Given the description of an element on the screen output the (x, y) to click on. 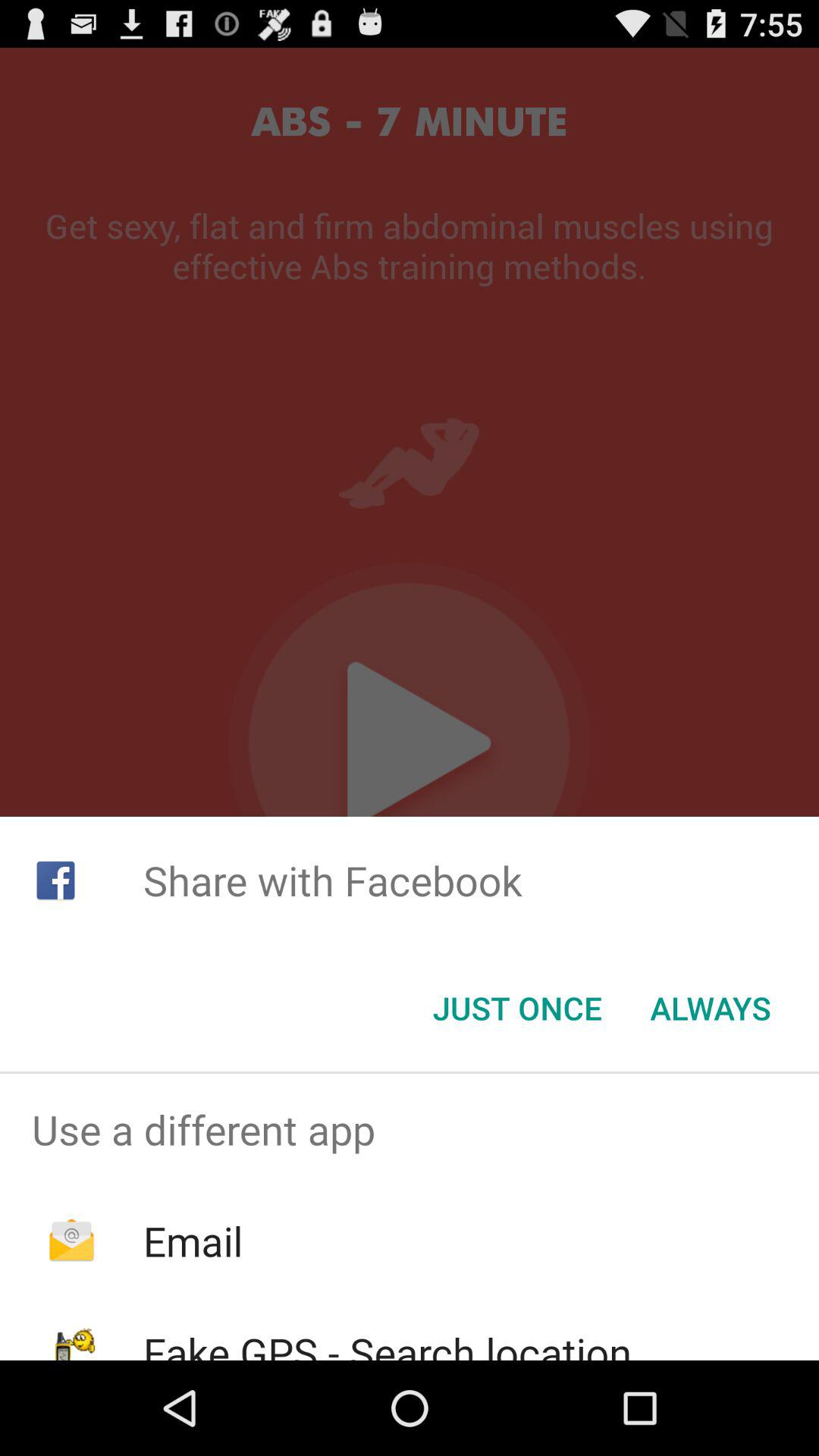
launch the app below share with facebook icon (710, 1007)
